Given the description of an element on the screen output the (x, y) to click on. 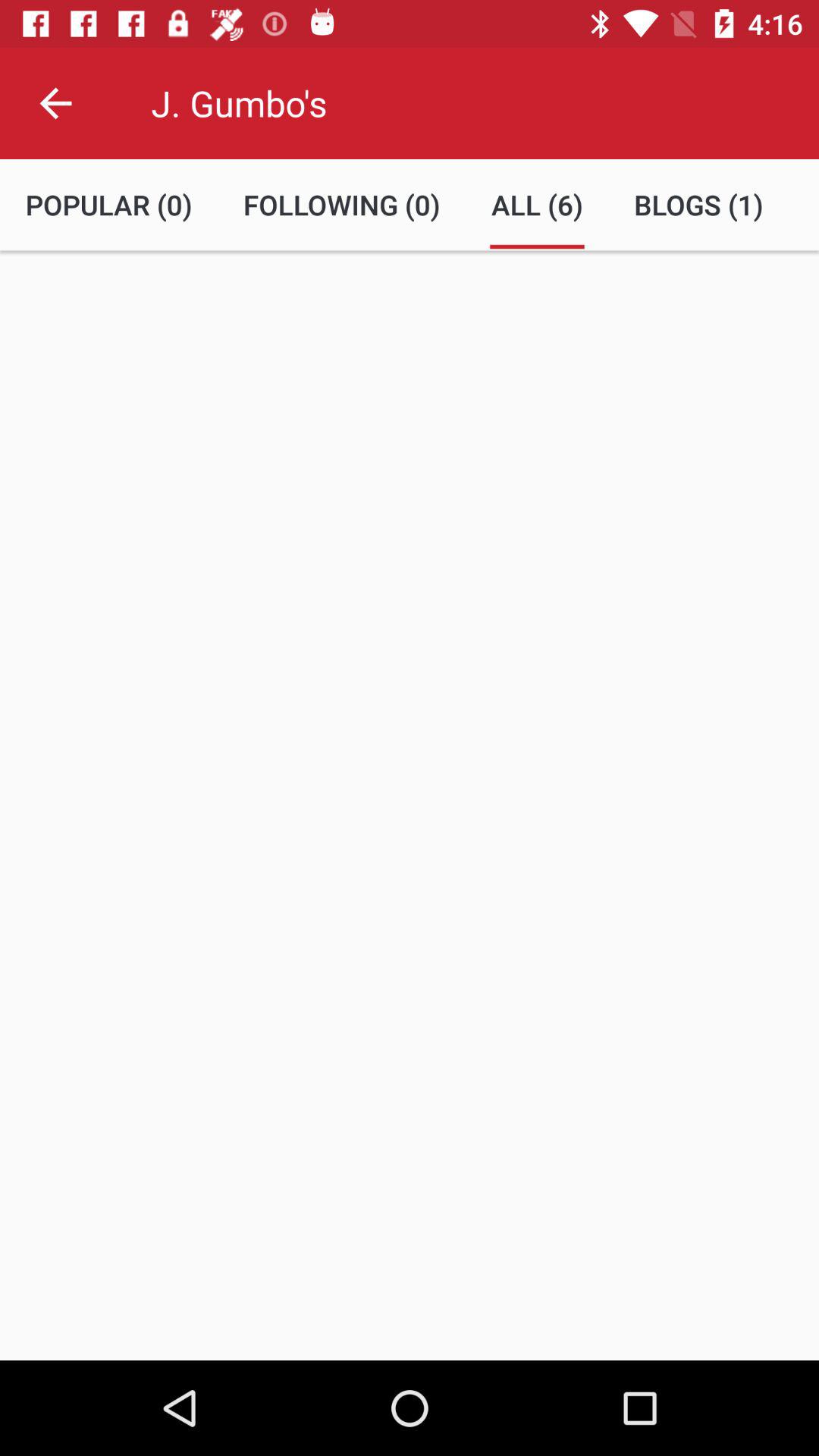
turn off the item to the left of the j. gumbo's item (55, 103)
